Given the description of an element on the screen output the (x, y) to click on. 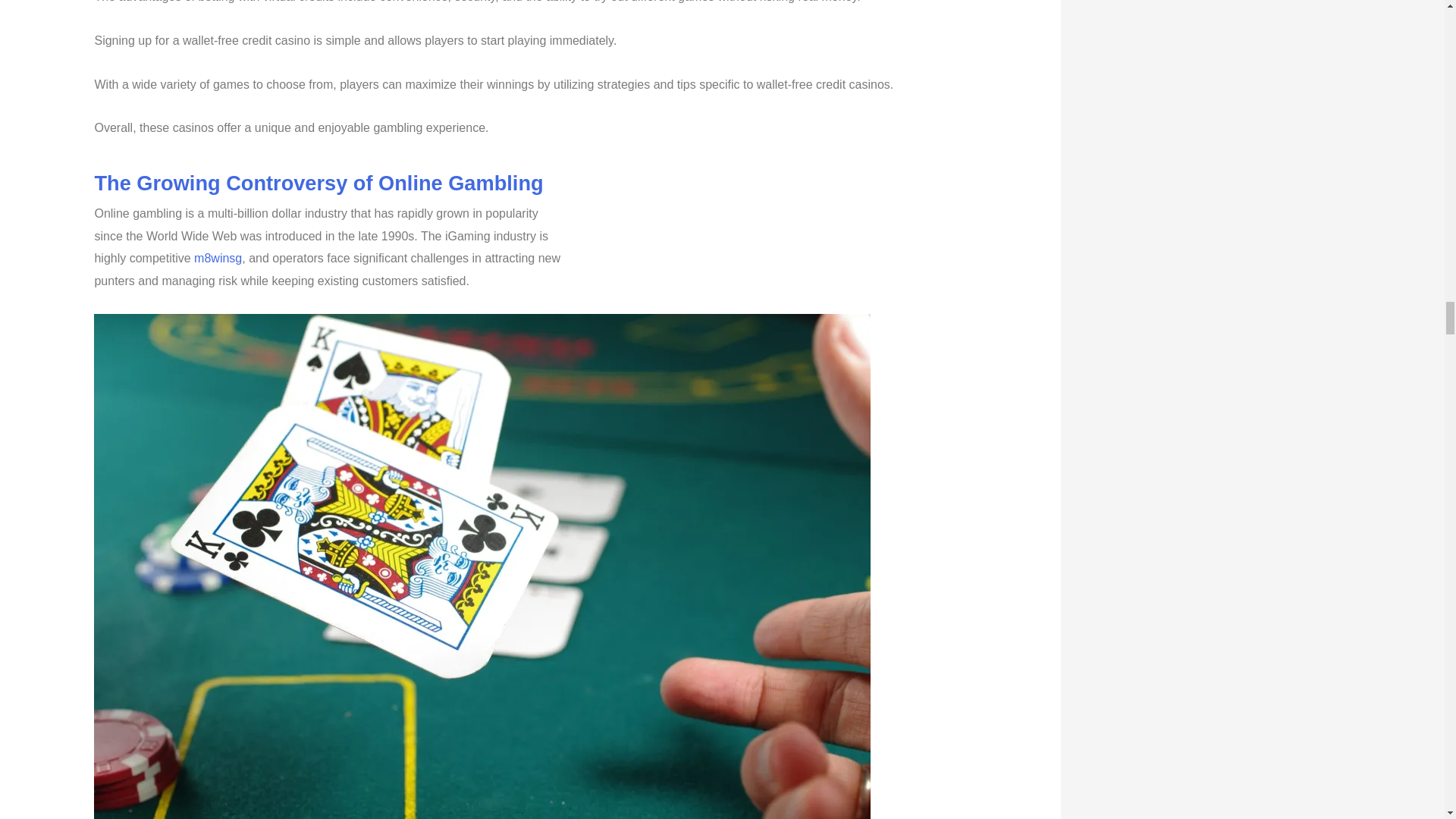
The Growing Controversy of Online Gambling (318, 182)
m8winsg (217, 257)
